Given the description of an element on the screen output the (x, y) to click on. 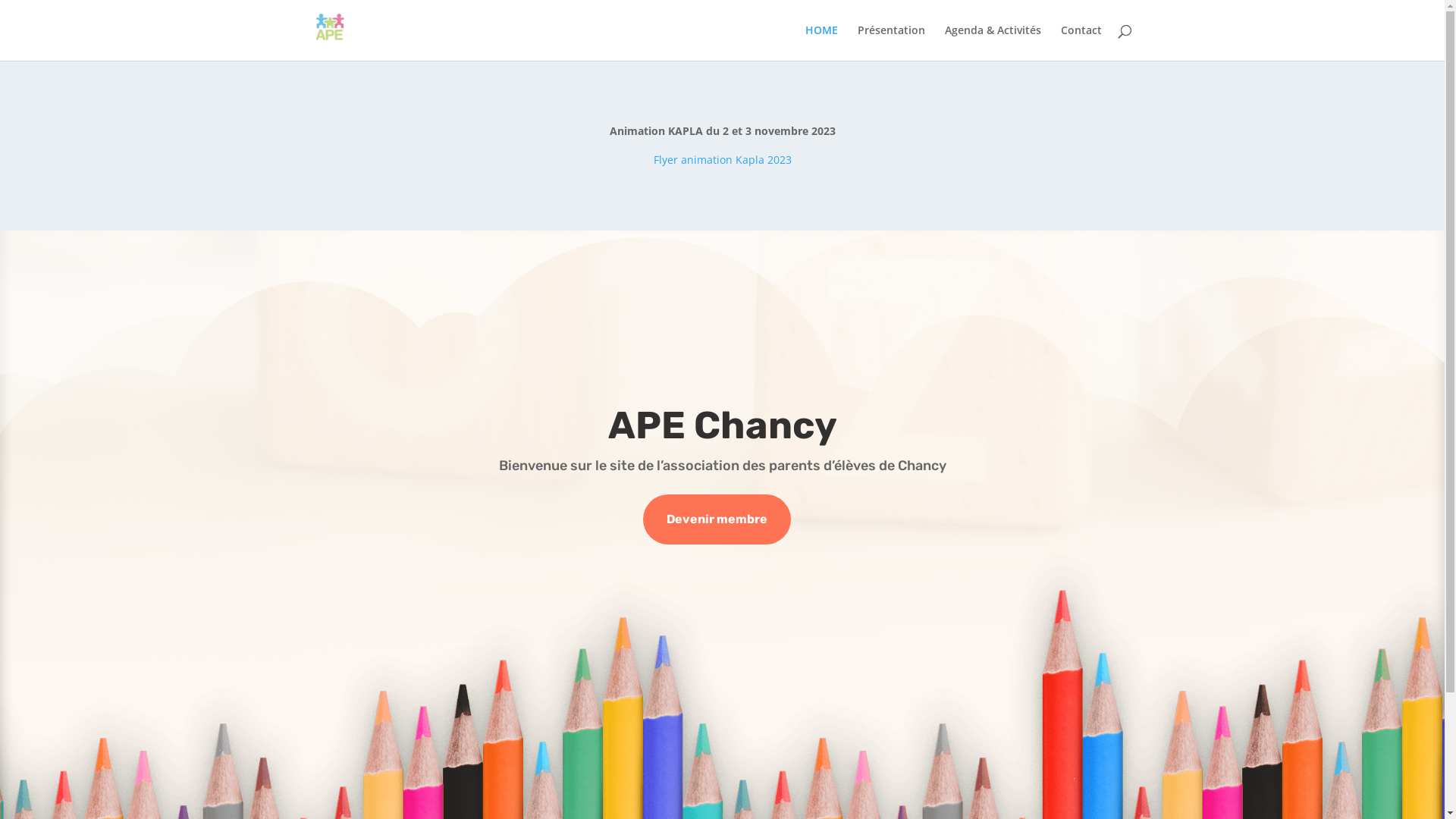
Flyer animation Kapla 2023 Element type: text (722, 159)
Devenir membre Element type: text (716, 519)
HOME Element type: text (821, 42)
Contact Element type: text (1080, 42)
